Given the description of an element on the screen output the (x, y) to click on. 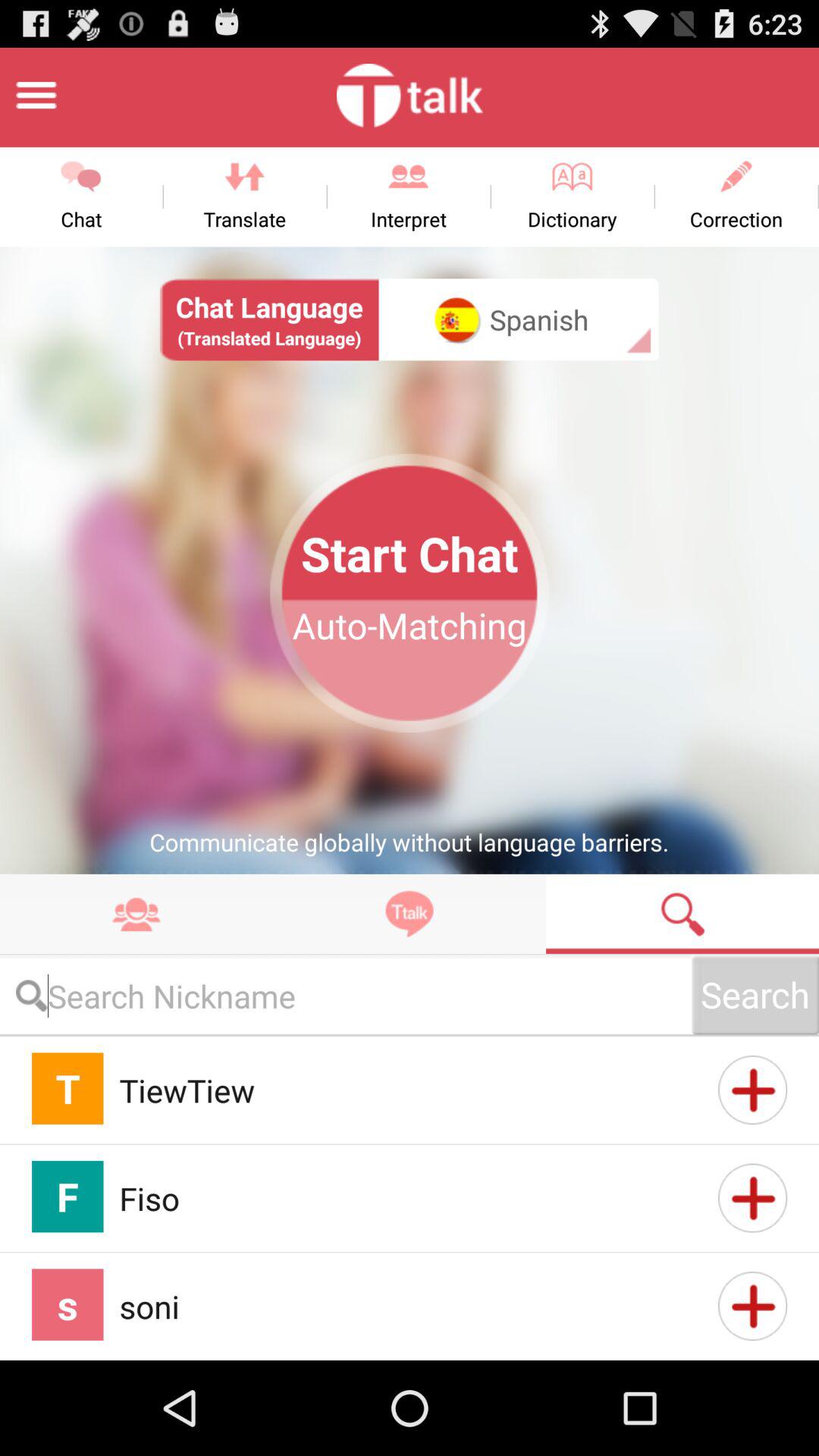
open search (682, 913)
